Given the description of an element on the screen output the (x, y) to click on. 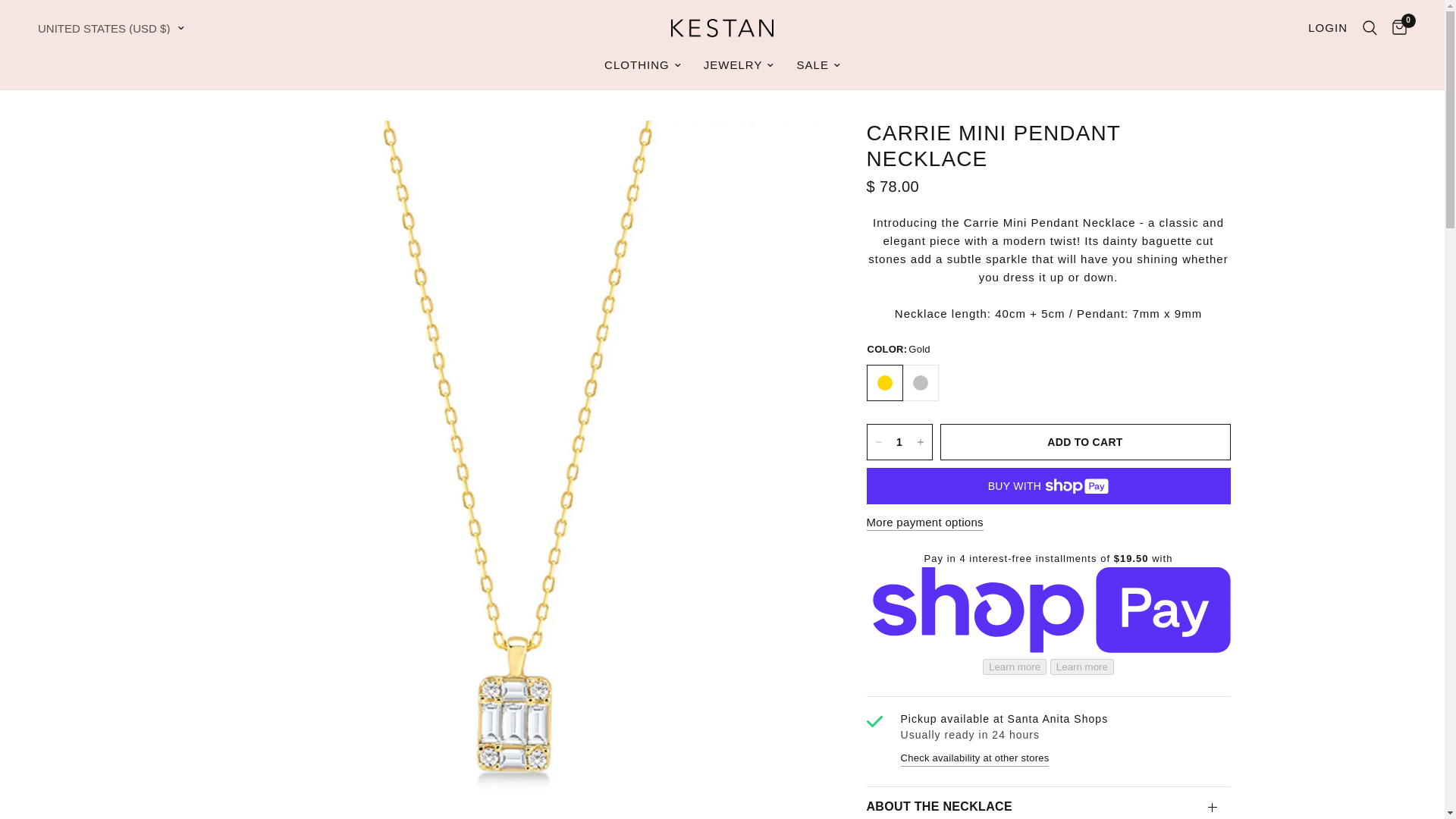
0 (1395, 27)
1 (898, 442)
LOGIN (1327, 27)
My Account (1327, 27)
CLOTHING (642, 65)
Search (1369, 27)
